Given the description of an element on the screen output the (x, y) to click on. 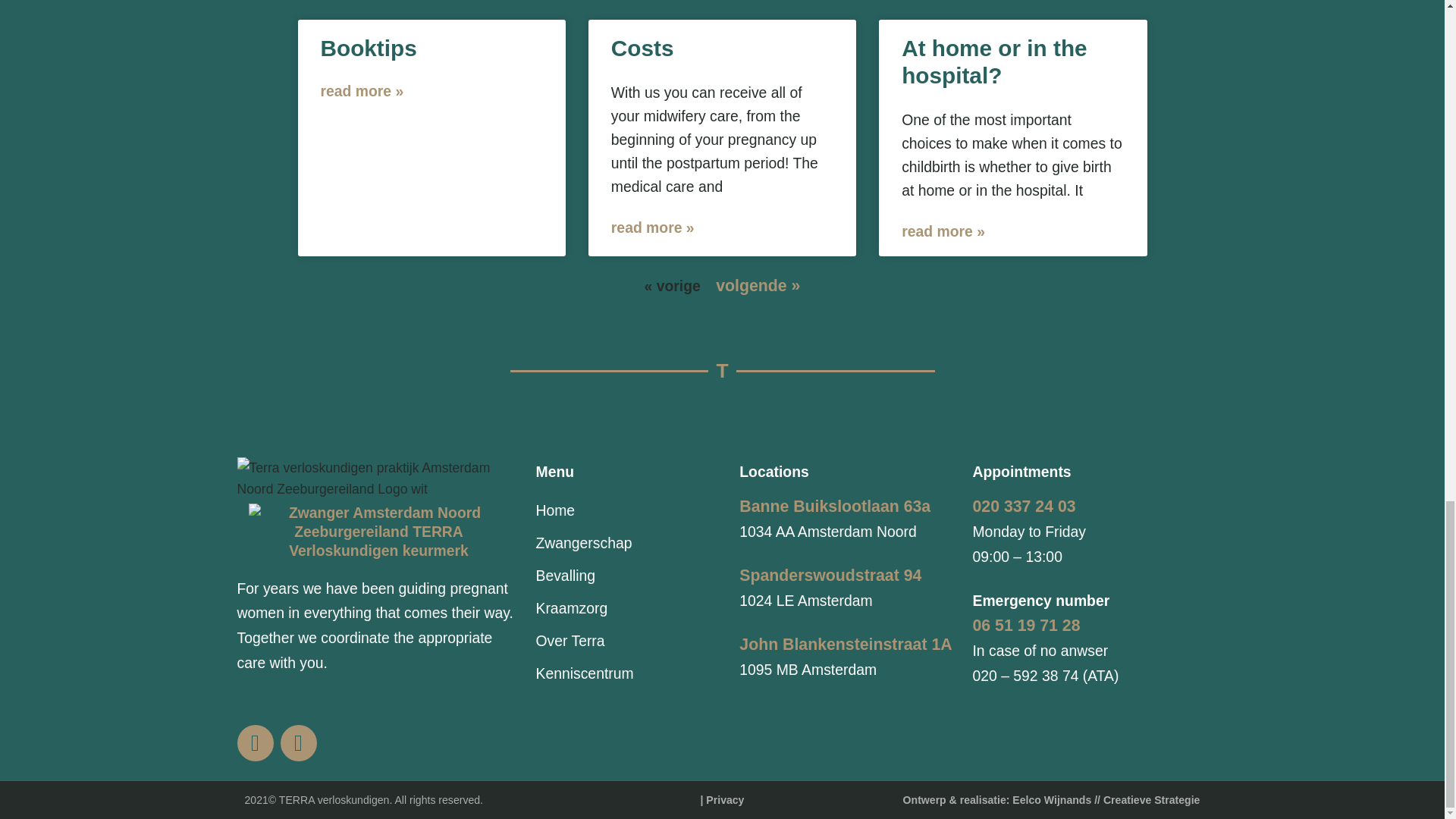
At home or in the hospital? (993, 61)
Booktips (368, 48)
Over Terra (629, 640)
Spanderswoudstraat 94 (830, 575)
Kraamzorg (629, 608)
Costs (642, 48)
06 51 19 71 28 (1026, 625)
Home (629, 510)
Bevalling (629, 575)
020 337 24 03 (1023, 506)
Banne Buikslootlaan 63a (834, 506)
John Blankensteinstraat 1A (845, 644)
Zwangerschap (629, 543)
